Given the description of an element on the screen output the (x, y) to click on. 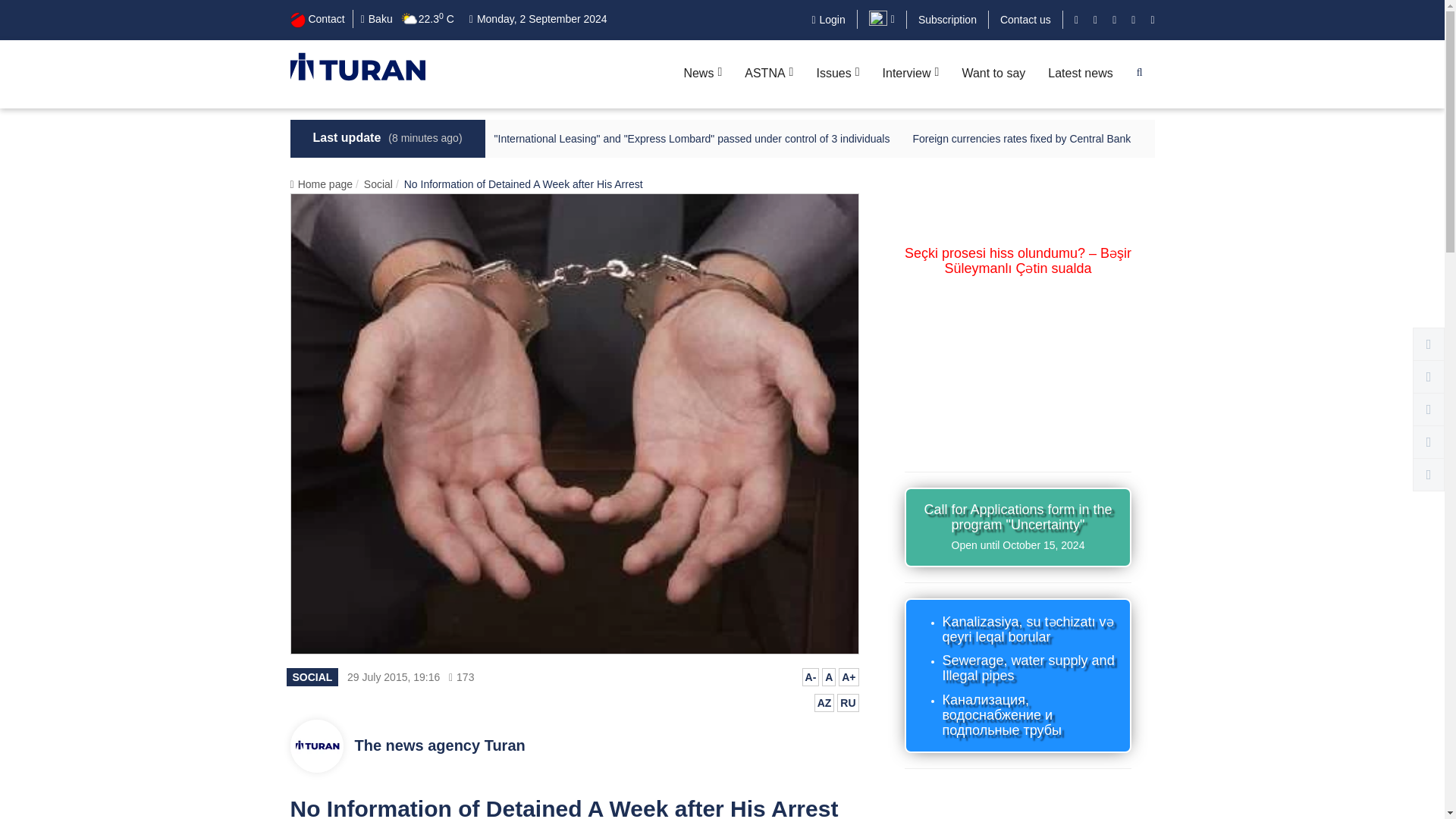
ASTNA (769, 74)
Login (827, 19)
YouTube video player (1017, 367)
News (702, 74)
Contact us (1025, 19)
Contact (316, 18)
Subscription (947, 19)
